Given the description of an element on the screen output the (x, y) to click on. 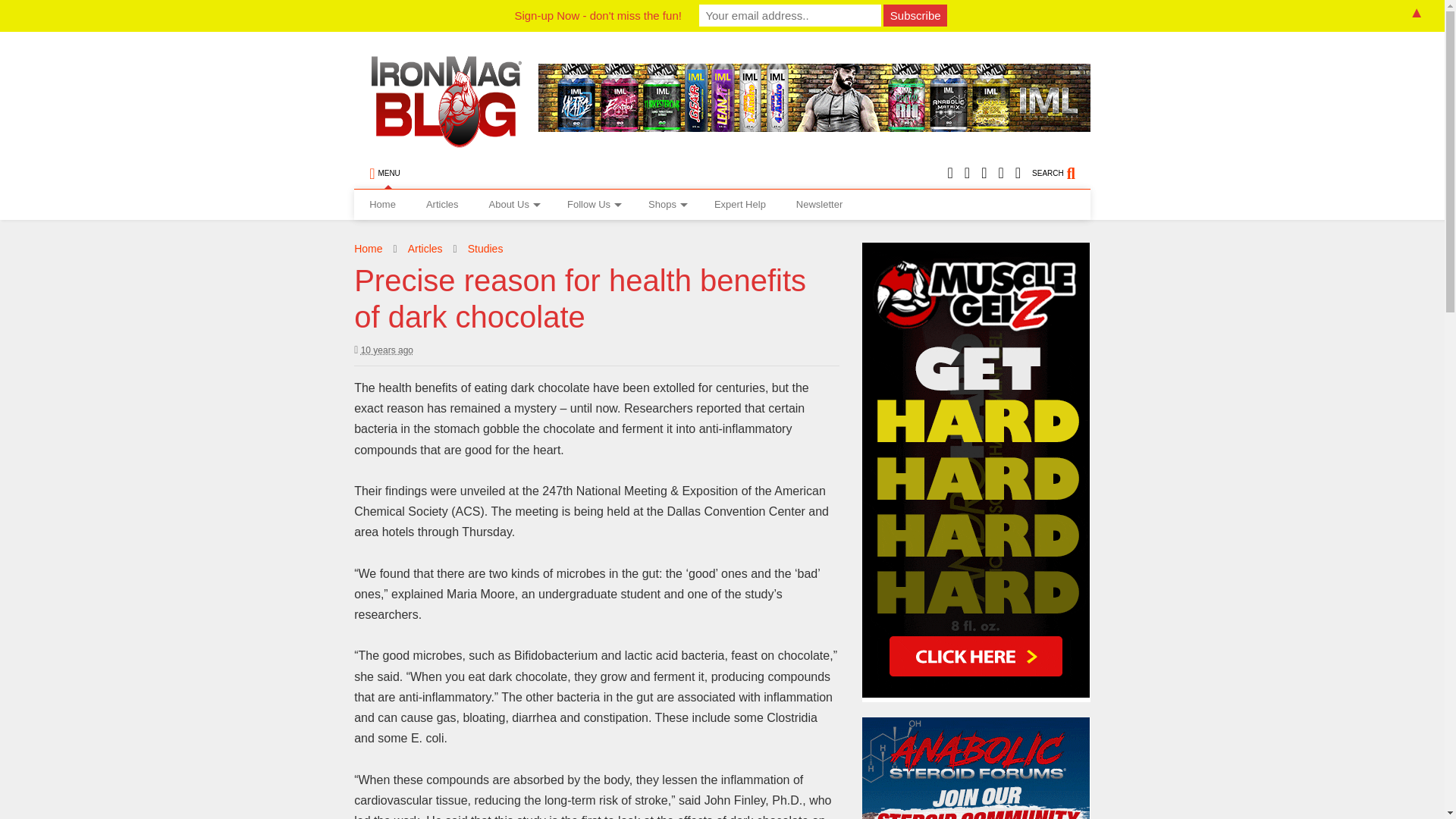
Follow Us (592, 204)
Home (381, 204)
Follow Us (592, 204)
Newsletter (818, 204)
Articles (442, 204)
About Us (512, 204)
About Us (512, 204)
Shops (665, 204)
MENU (383, 173)
Subscribe (915, 15)
